Given the description of an element on the screen output the (x, y) to click on. 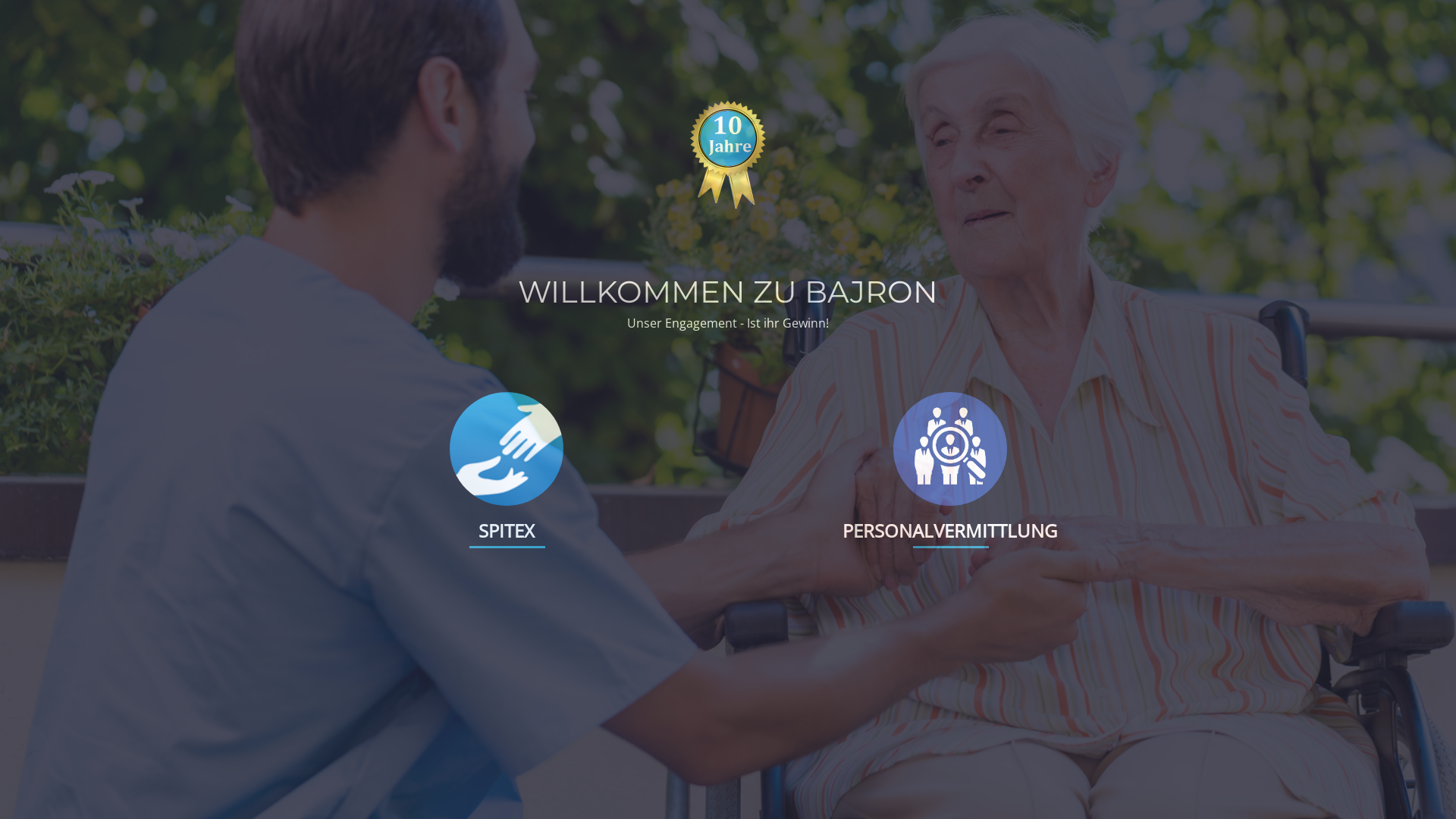
SPITEX Element type: text (505, 529)
PERSONALVERMITTLUNG Element type: text (949, 529)
